Given the description of an element on the screen output the (x, y) to click on. 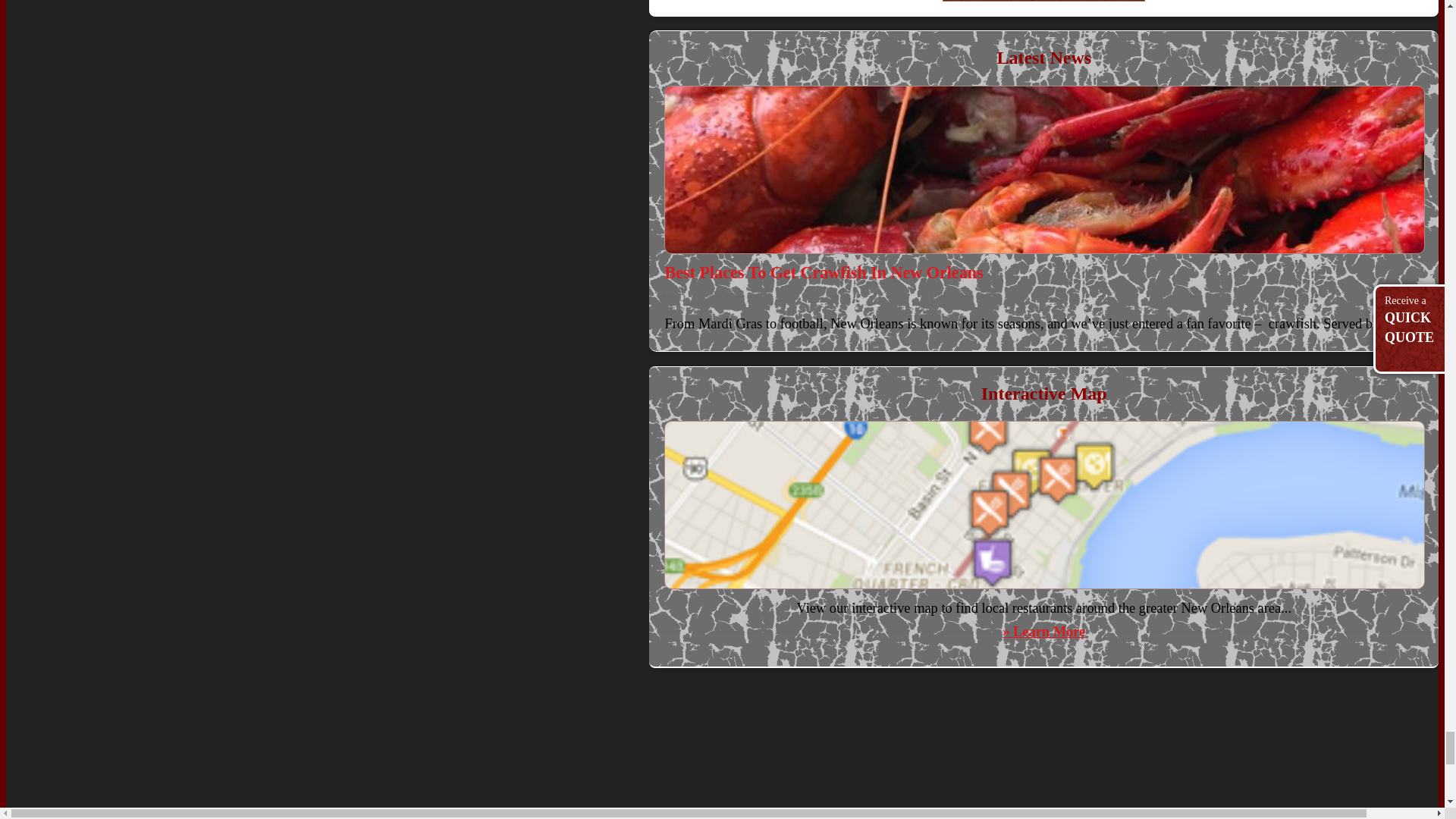
Latest News (1042, 57)
Interactive Map (1043, 393)
Best Places To Get Crawfish In New Orleans (822, 271)
